Given the description of an element on the screen output the (x, y) to click on. 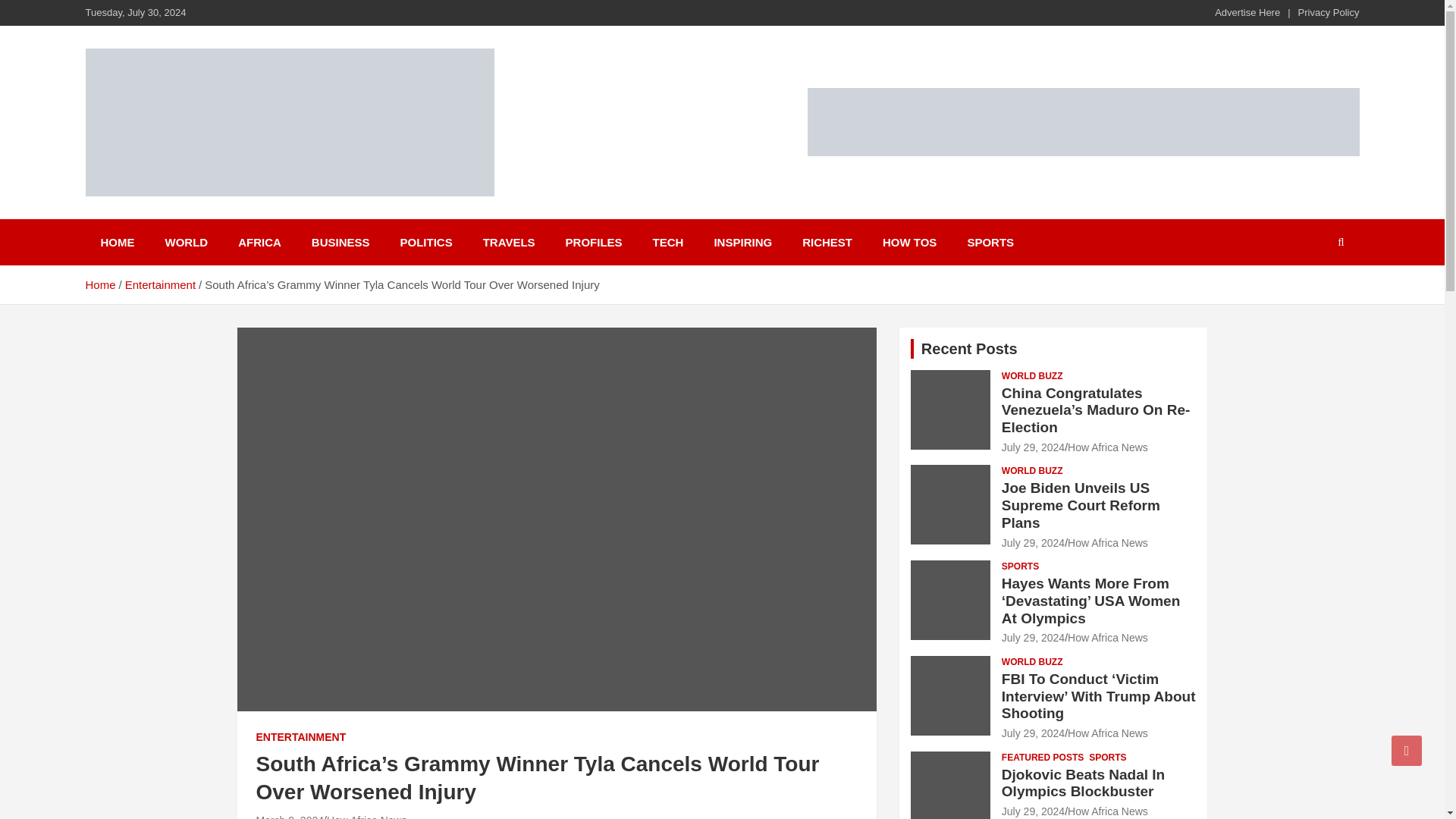
How Africa News (1107, 447)
INSPIRING (742, 242)
BUSINESS (341, 242)
WORLD (186, 242)
HOME (116, 242)
How Africa News (366, 816)
Home (99, 284)
SPORTS (990, 242)
HOW TOS (909, 242)
PROFILES (593, 242)
AFRICA (259, 242)
Privacy Policy (1328, 12)
Recent Posts (969, 348)
TECH (667, 242)
TRAVELS (508, 242)
